Given the description of an element on the screen output the (x, y) to click on. 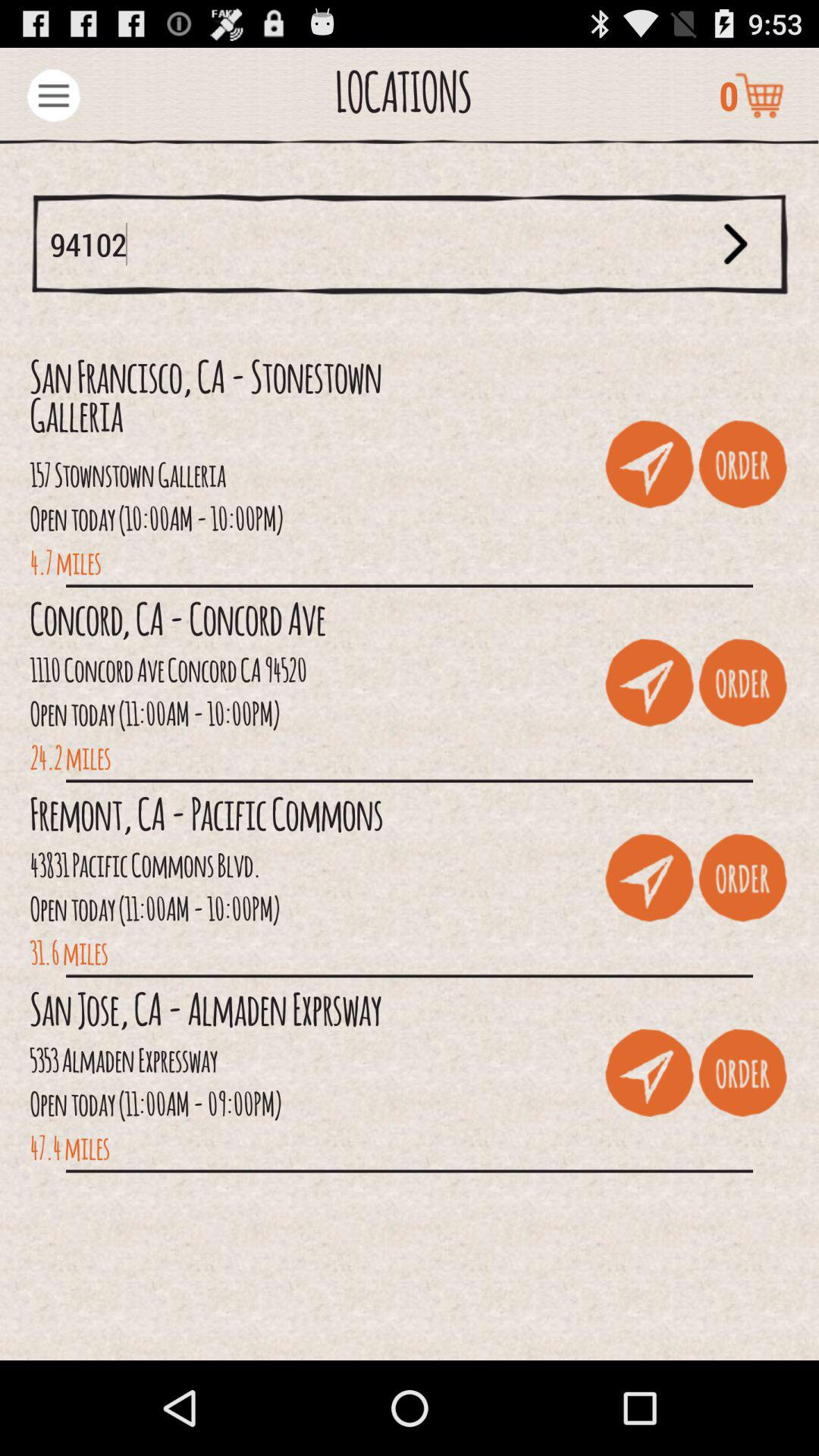
search (735, 244)
